Given the description of an element on the screen output the (x, y) to click on. 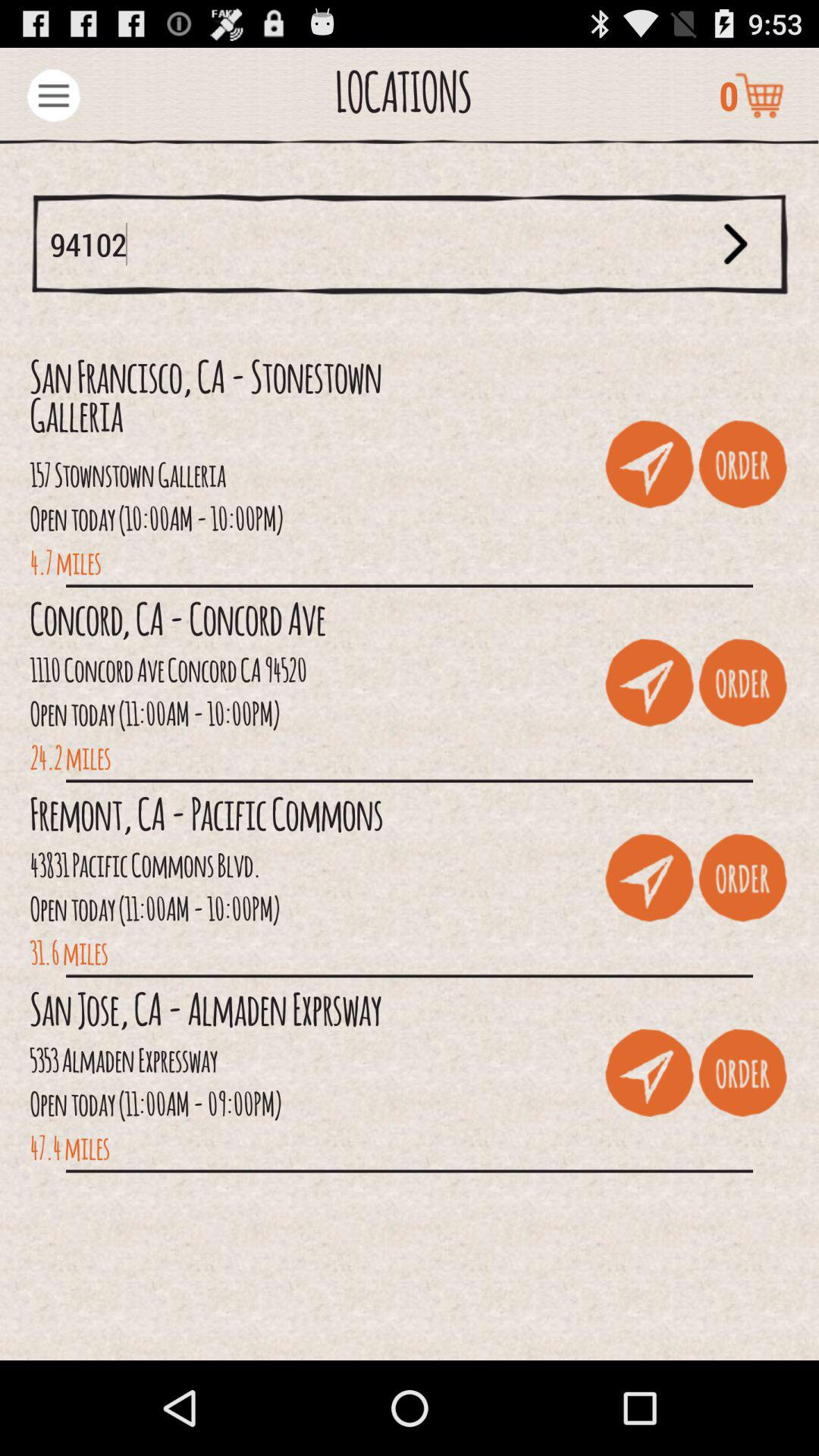
search (735, 244)
